Given the description of an element on the screen output the (x, y) to click on. 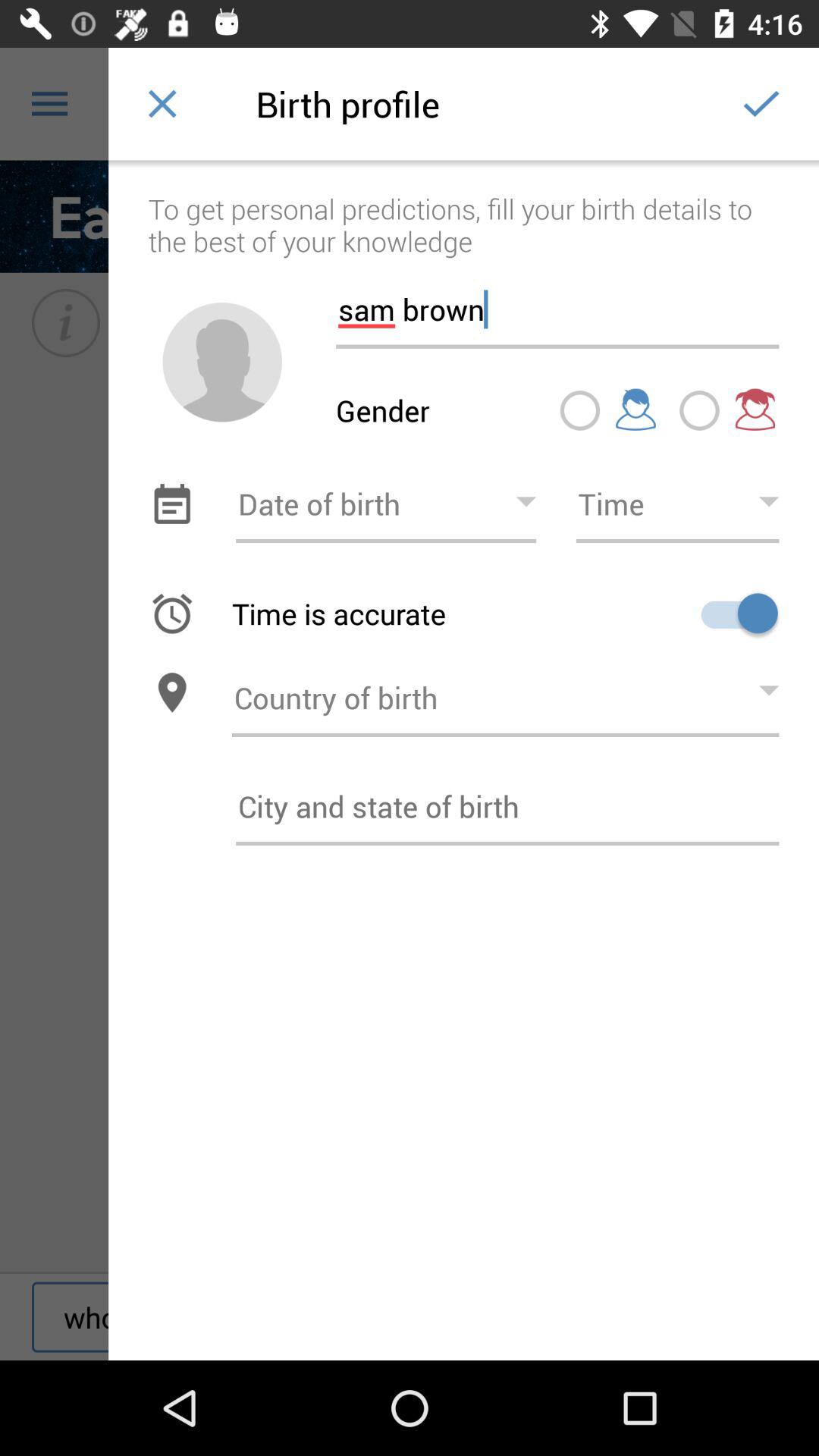
select date from calendar (172, 503)
